Given the description of an element on the screen output the (x, y) to click on. 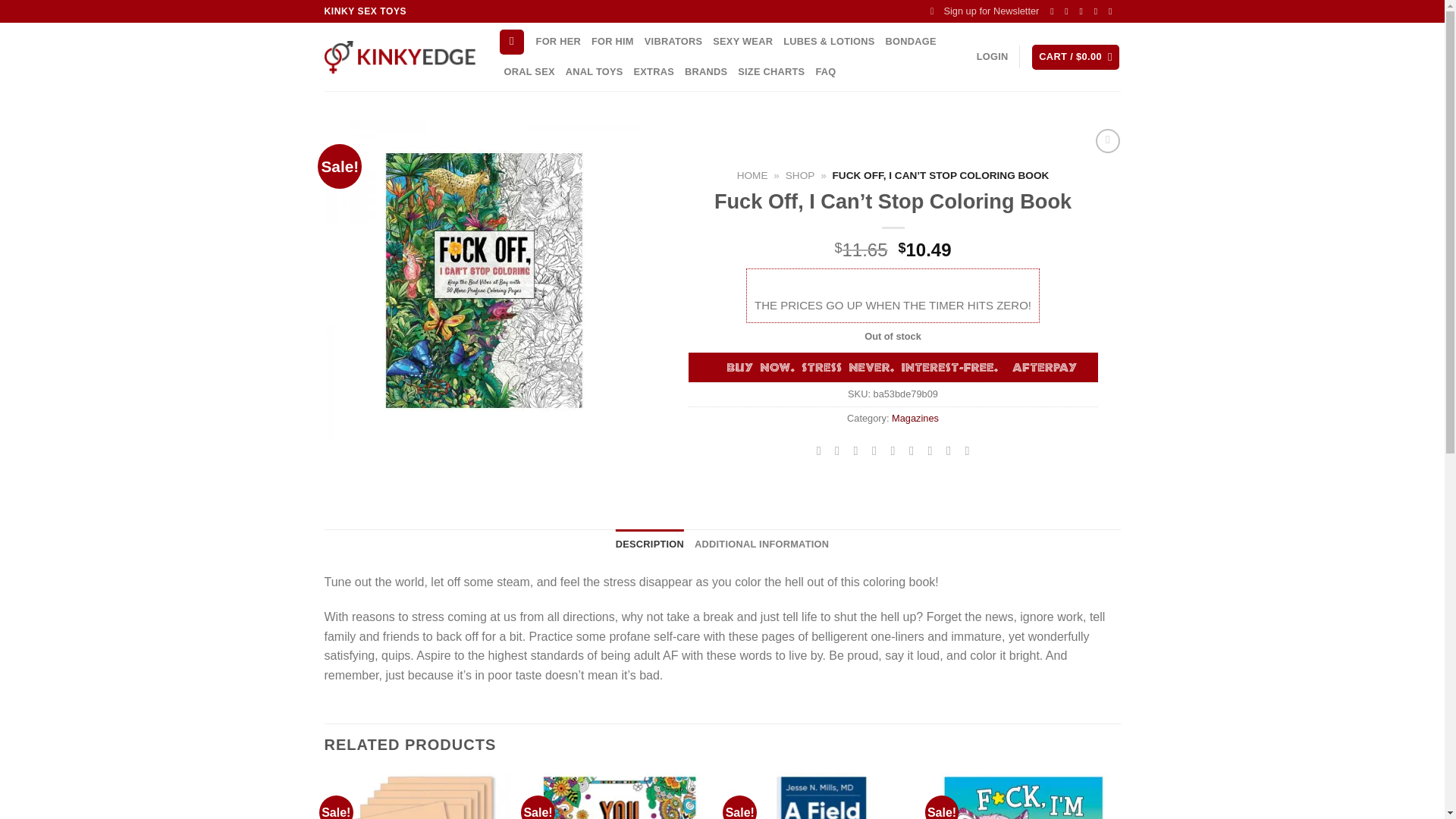
Magazines (915, 418)
BRANDS (705, 71)
SIZE CHARTS (771, 71)
Sign up for Newsletter (984, 11)
Cart (1075, 57)
Sign up for Newsletter (984, 11)
SHOP (800, 174)
Email to a Friend (873, 450)
Share on X (837, 450)
VIBRATORS (674, 41)
